Given the description of an element on the screen output the (x, y) to click on. 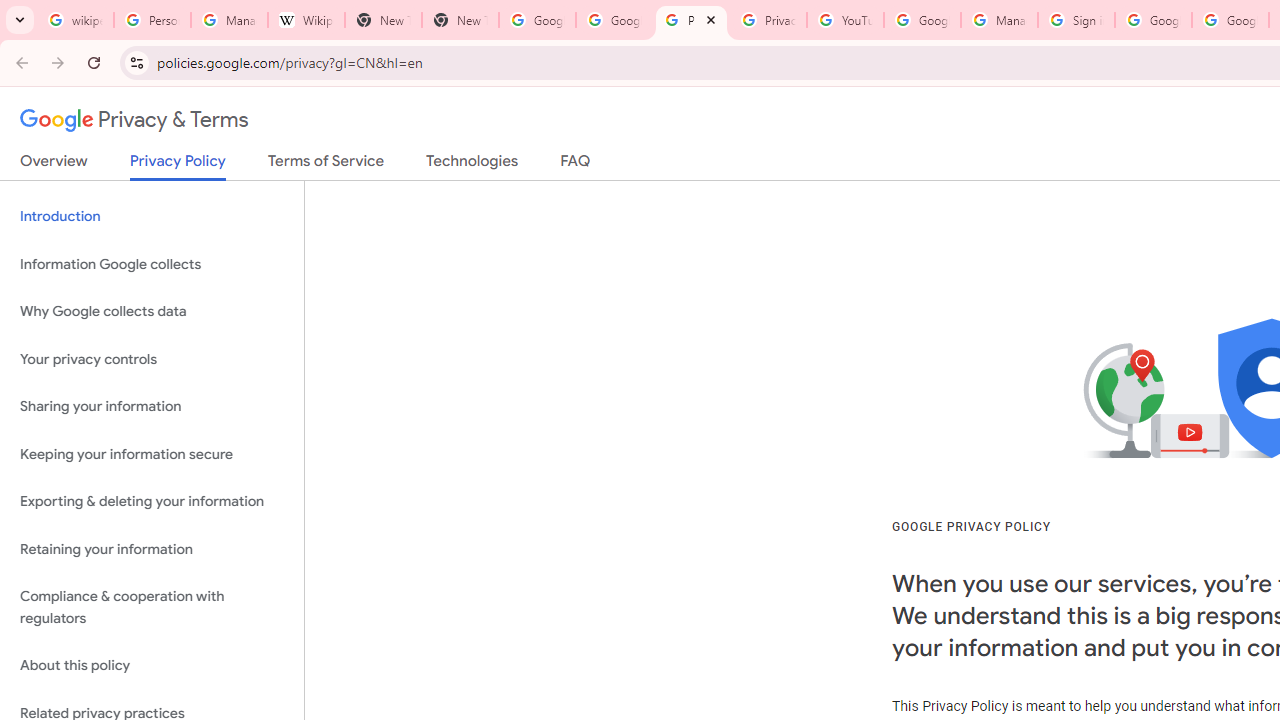
New Tab (460, 20)
Sign in - Google Accounts (1076, 20)
Manage your Location History - Google Search Help (228, 20)
